Given the description of an element on the screen output the (x, y) to click on. 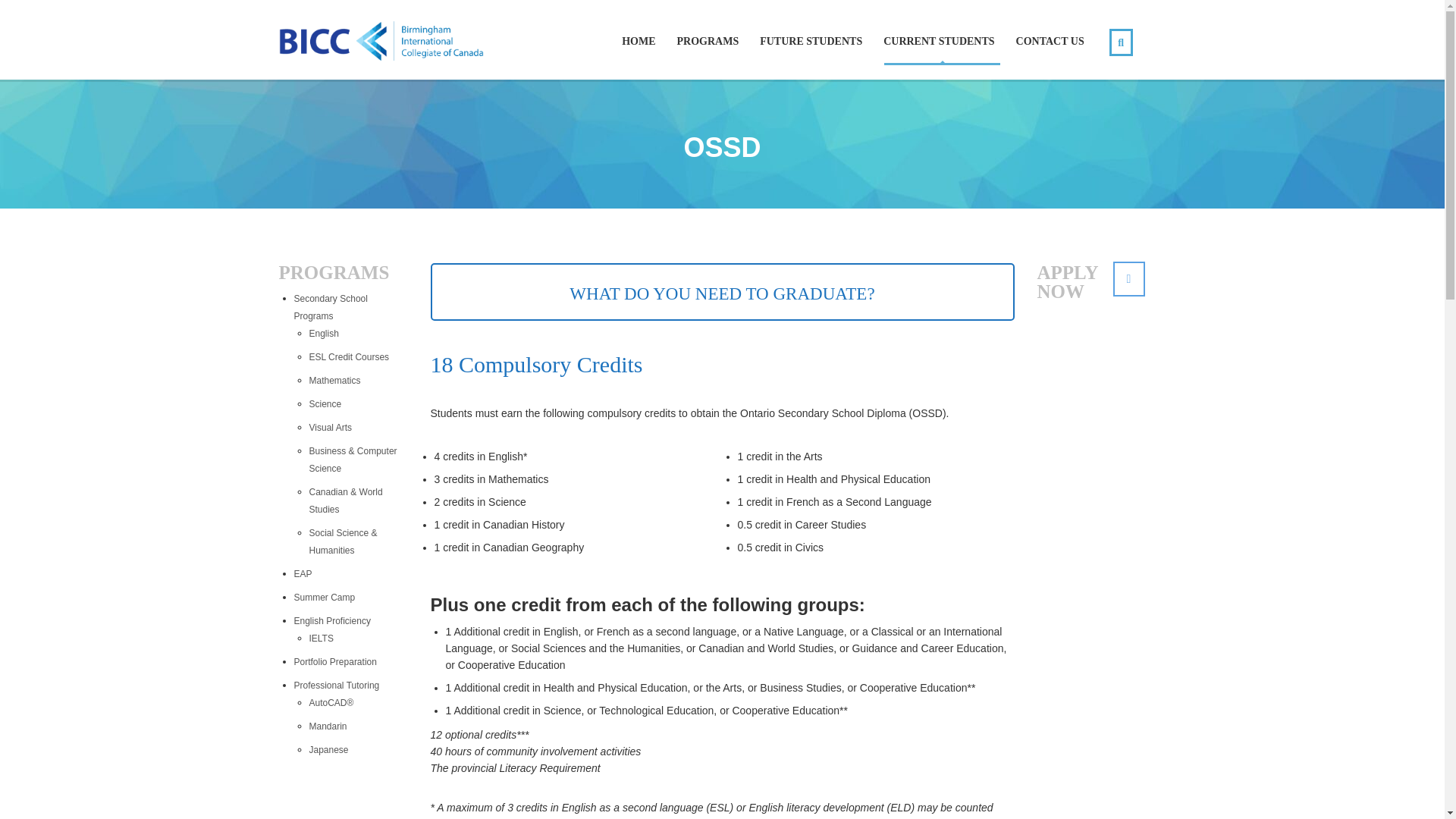
APPLY NOW (1128, 278)
Page 1 (722, 480)
